Given the description of an element on the screen output the (x, y) to click on. 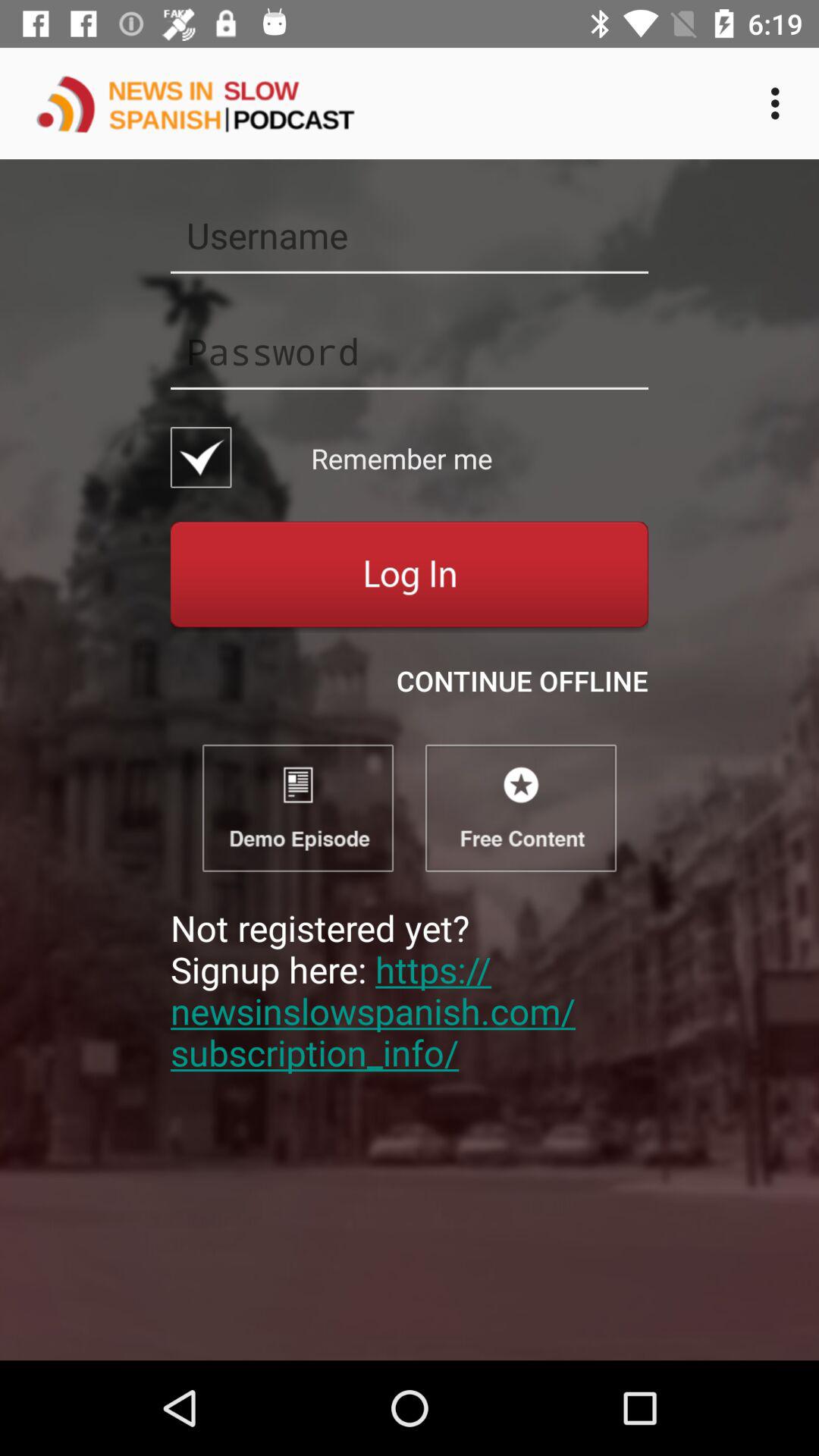
password (409, 351)
